Given the description of an element on the screen output the (x, y) to click on. 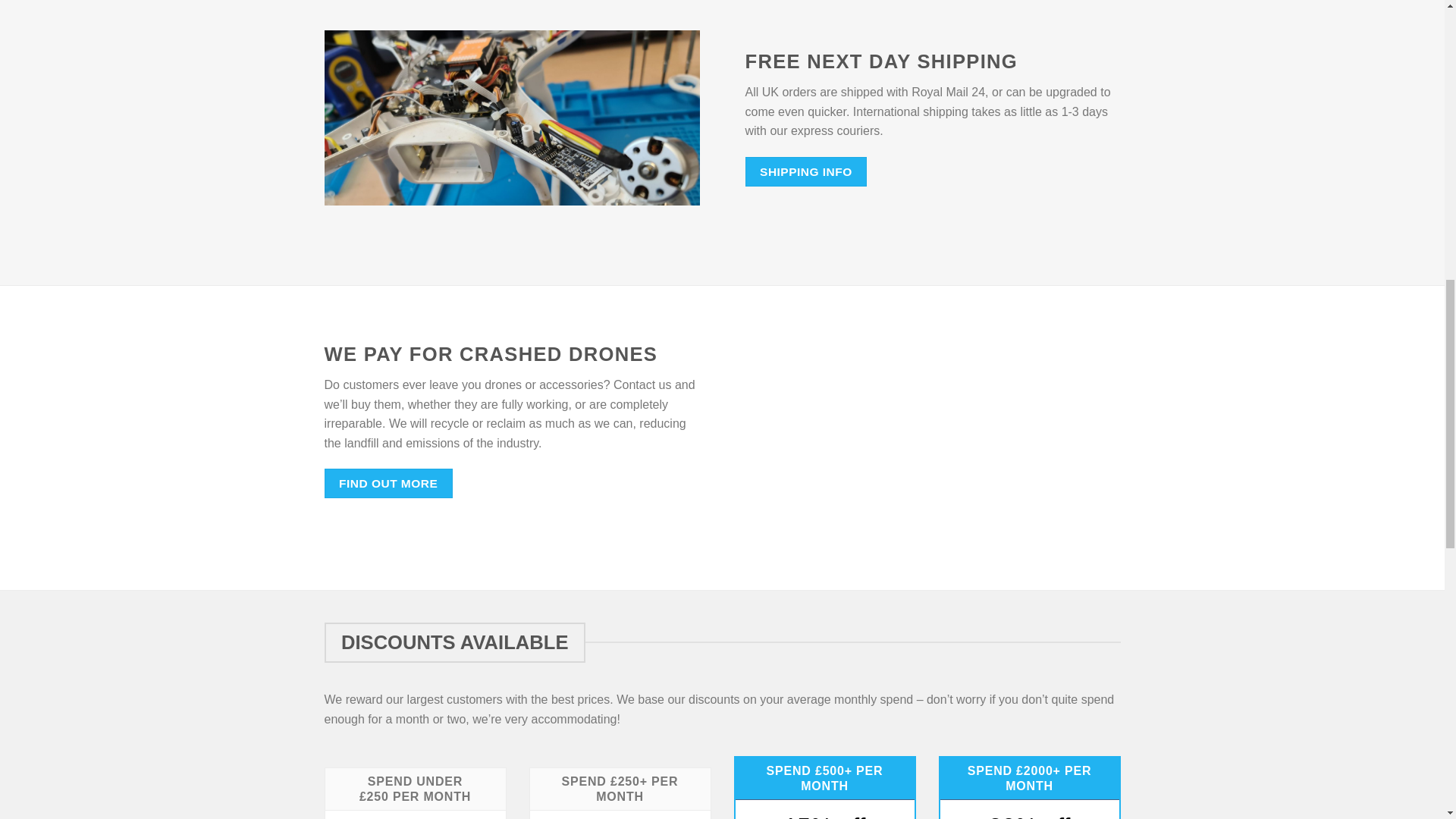
FIND OUT MORE (388, 482)
SHIPPING INFO (805, 171)
